Given the description of an element on the screen output the (x, y) to click on. 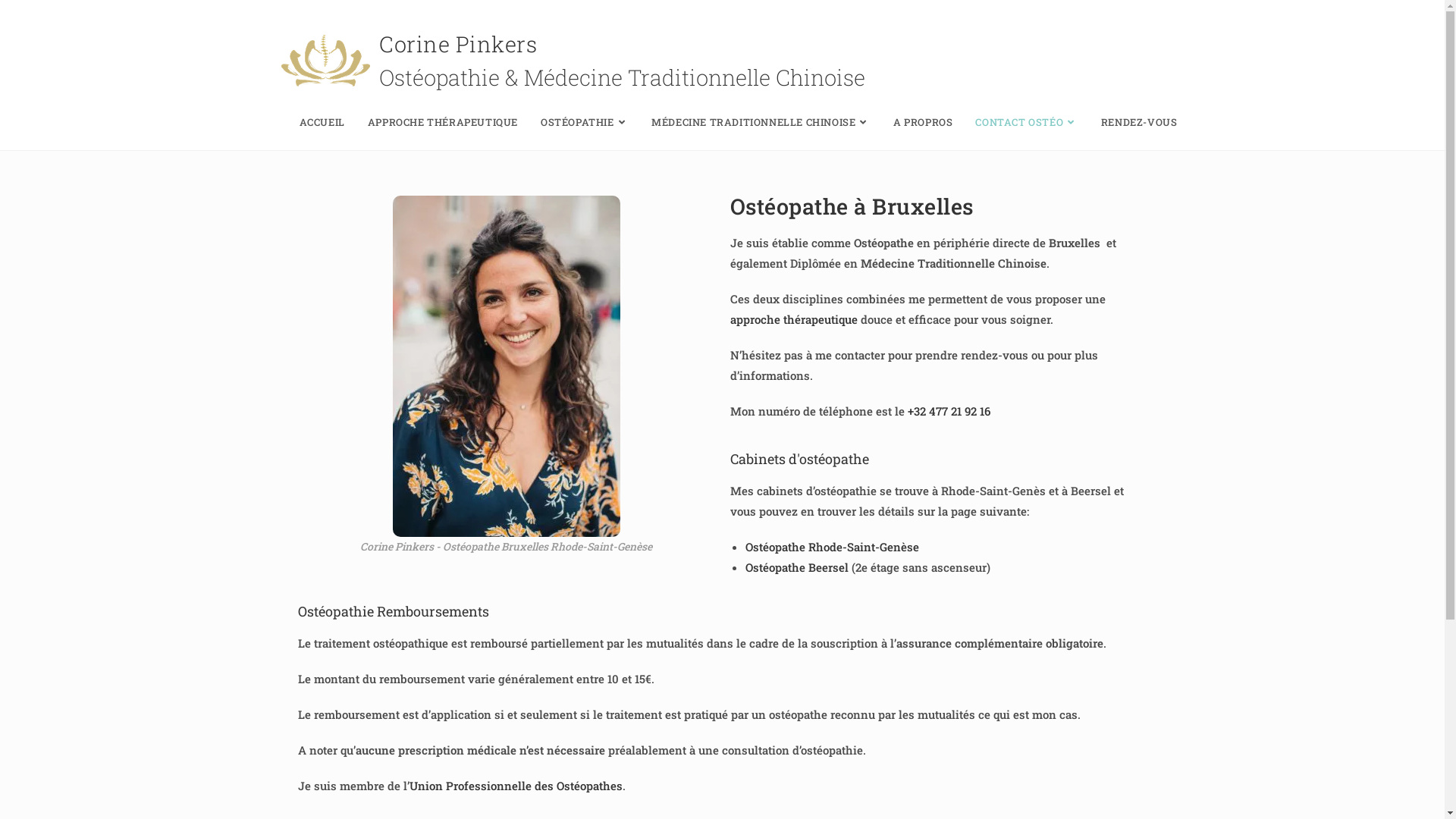
+32 477 21 92 16 Element type: text (947, 410)
RENDEZ-VOUS Element type: text (1139, 122)
A PROPROS Element type: text (922, 122)
ACCUEIL Element type: text (322, 122)
